Given the description of an element on the screen output the (x, y) to click on. 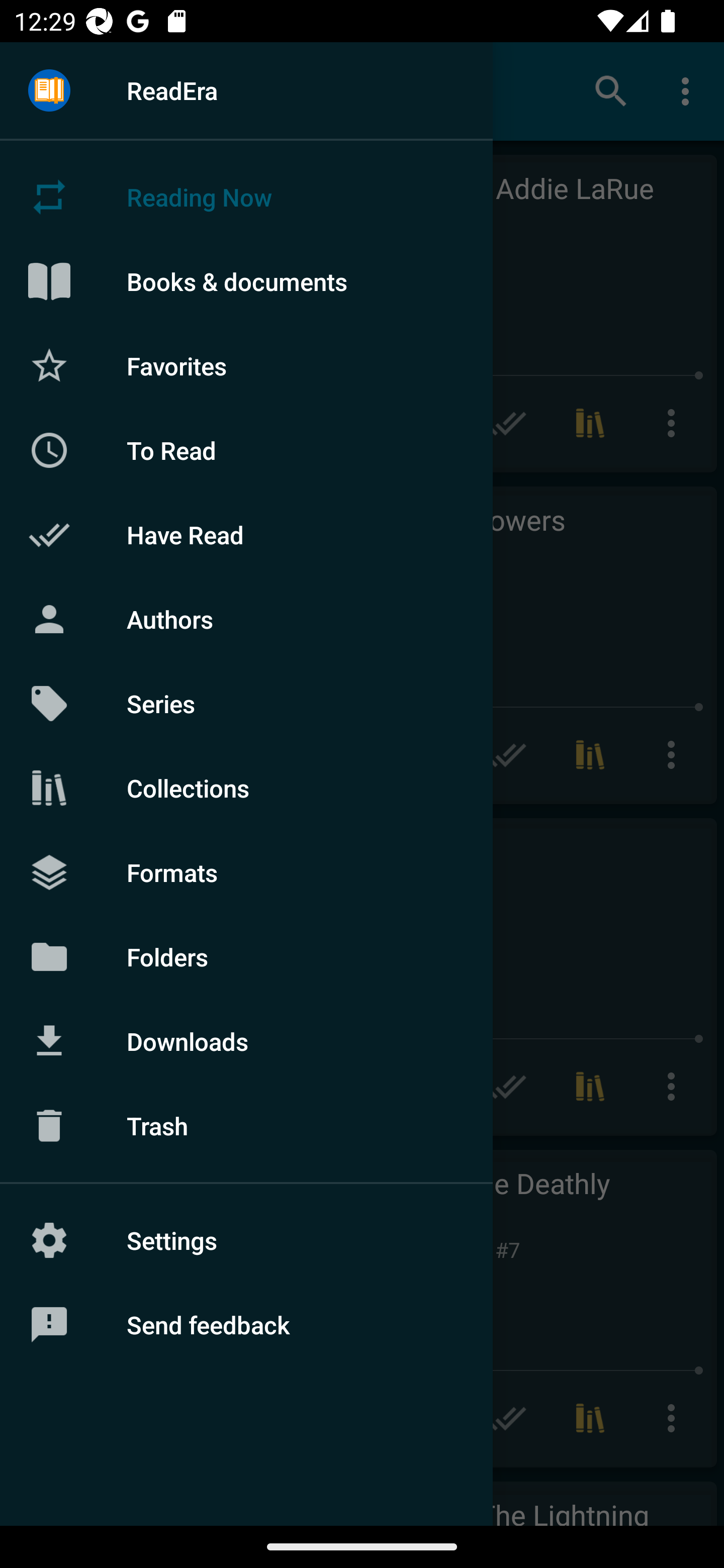
Menu (49, 91)
ReadEra (246, 89)
Search books & documents (611, 90)
More options (688, 90)
Reading Now (246, 197)
Books & documents (246, 281)
Favorites (246, 365)
To Read (246, 449)
Have Read (246, 534)
Authors (246, 619)
Series (246, 703)
Collections (246, 787)
Formats (246, 871)
Folders (246, 956)
Downloads (246, 1040)
Trash (246, 1125)
Settings (246, 1239)
Send feedback (246, 1324)
